Given the description of an element on the screen output the (x, y) to click on. 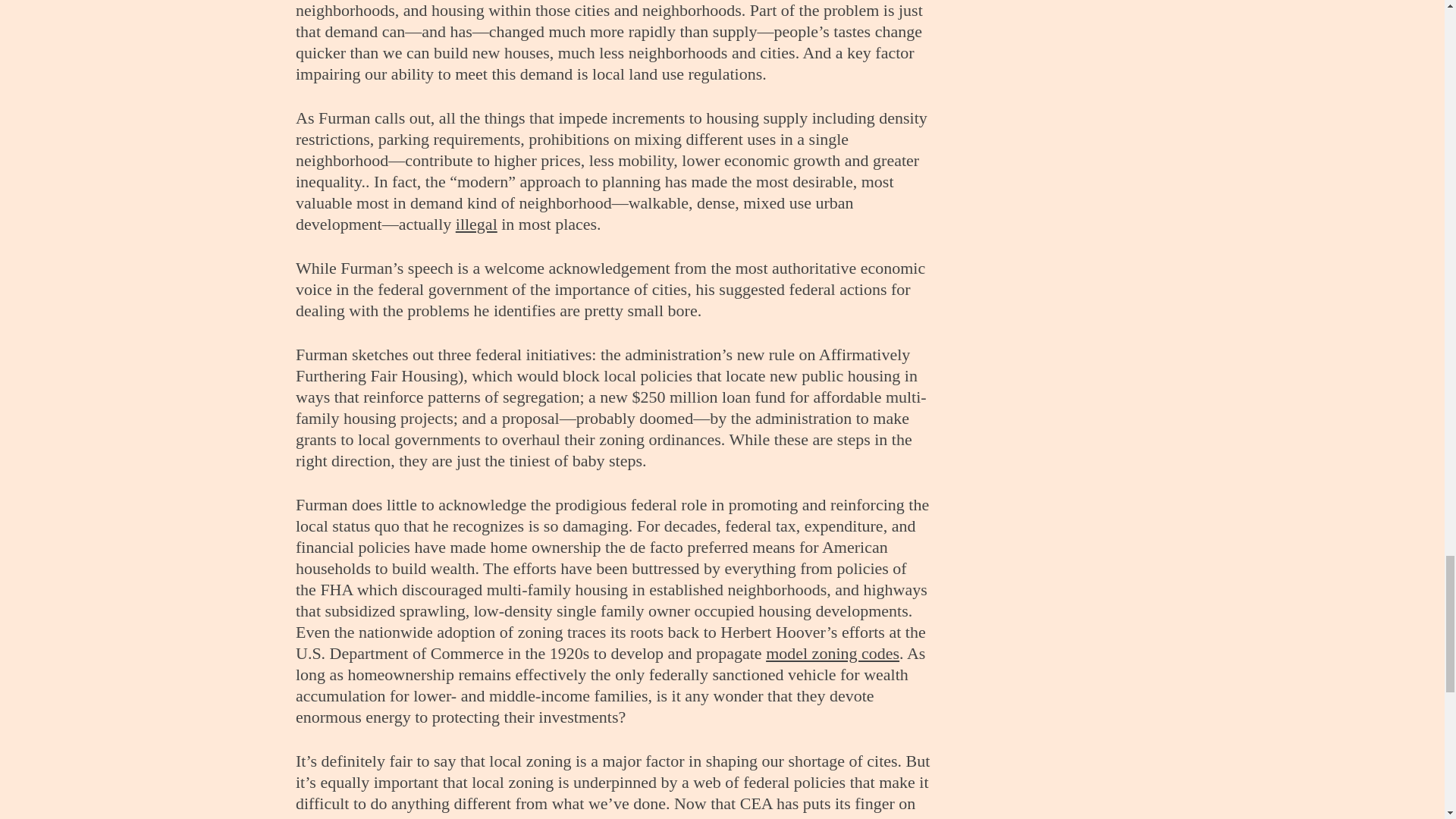
model zoning codes (832, 651)
illegal (476, 222)
